Given the description of an element on the screen output the (x, y) to click on. 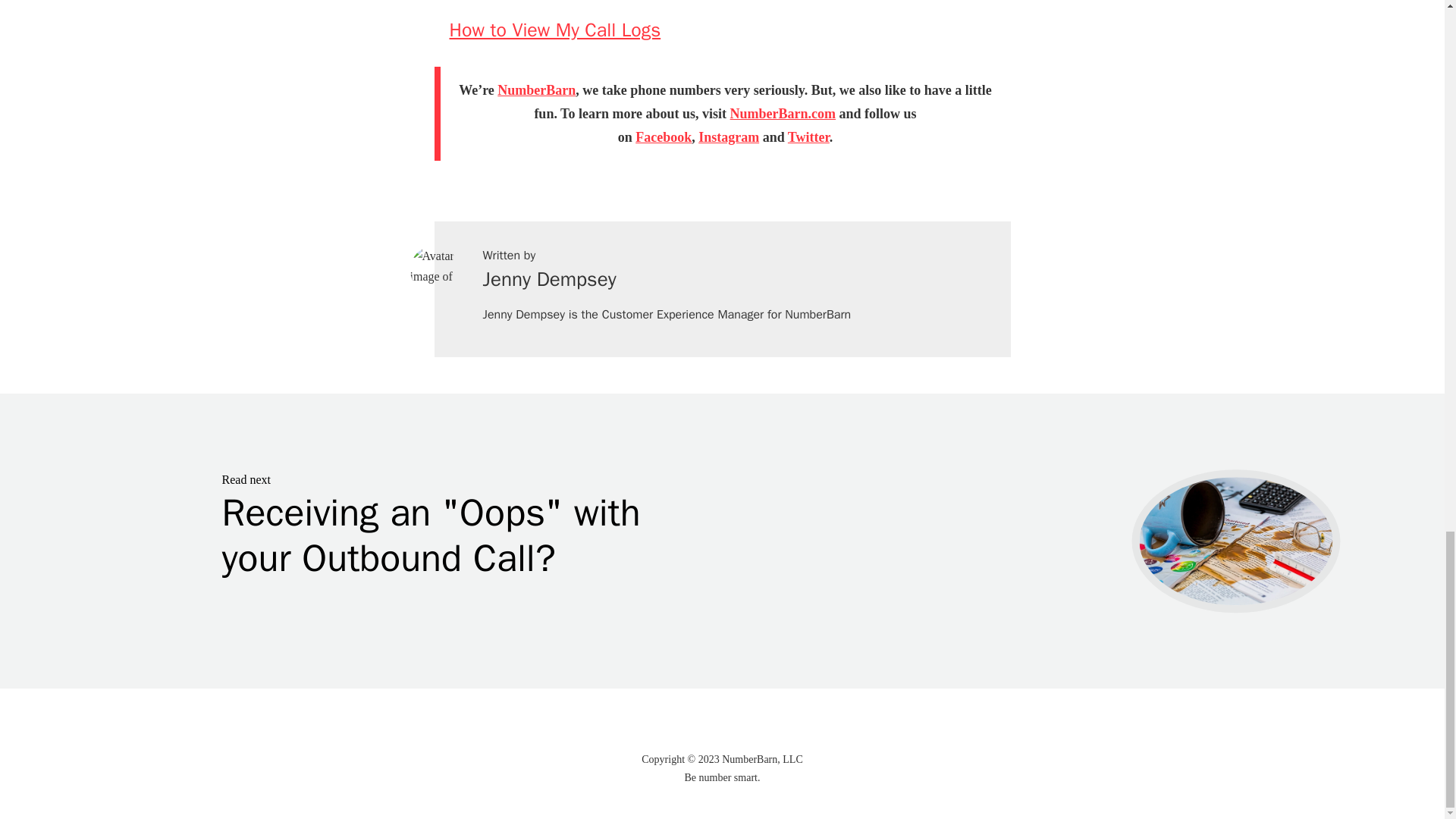
NumberBarn.com (782, 113)
Twitter (808, 136)
NumberBarn (536, 89)
Instagram (728, 136)
How to View My Call Logs (662, 136)
